Given the description of an element on the screen output the (x, y) to click on. 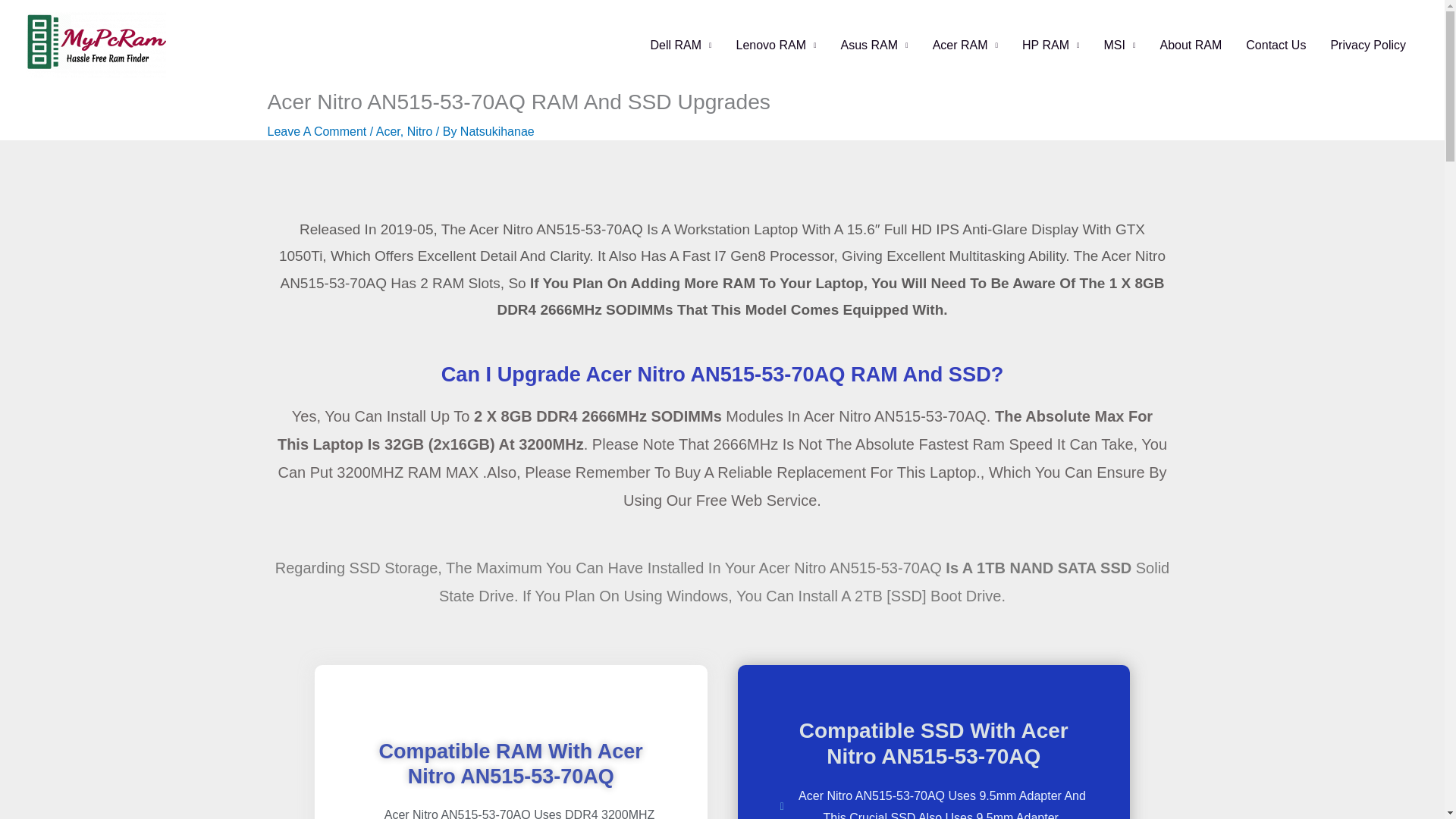
Dell RAM (680, 44)
Lenovo RAM (775, 44)
Contact Us (1275, 44)
Asus RAM (874, 44)
Acer RAM (965, 44)
Privacy Policy (1367, 44)
View all posts by Natsukihanae (497, 131)
About RAM (1190, 44)
MSI (1120, 44)
HP RAM (1050, 44)
